Given the description of an element on the screen output the (x, y) to click on. 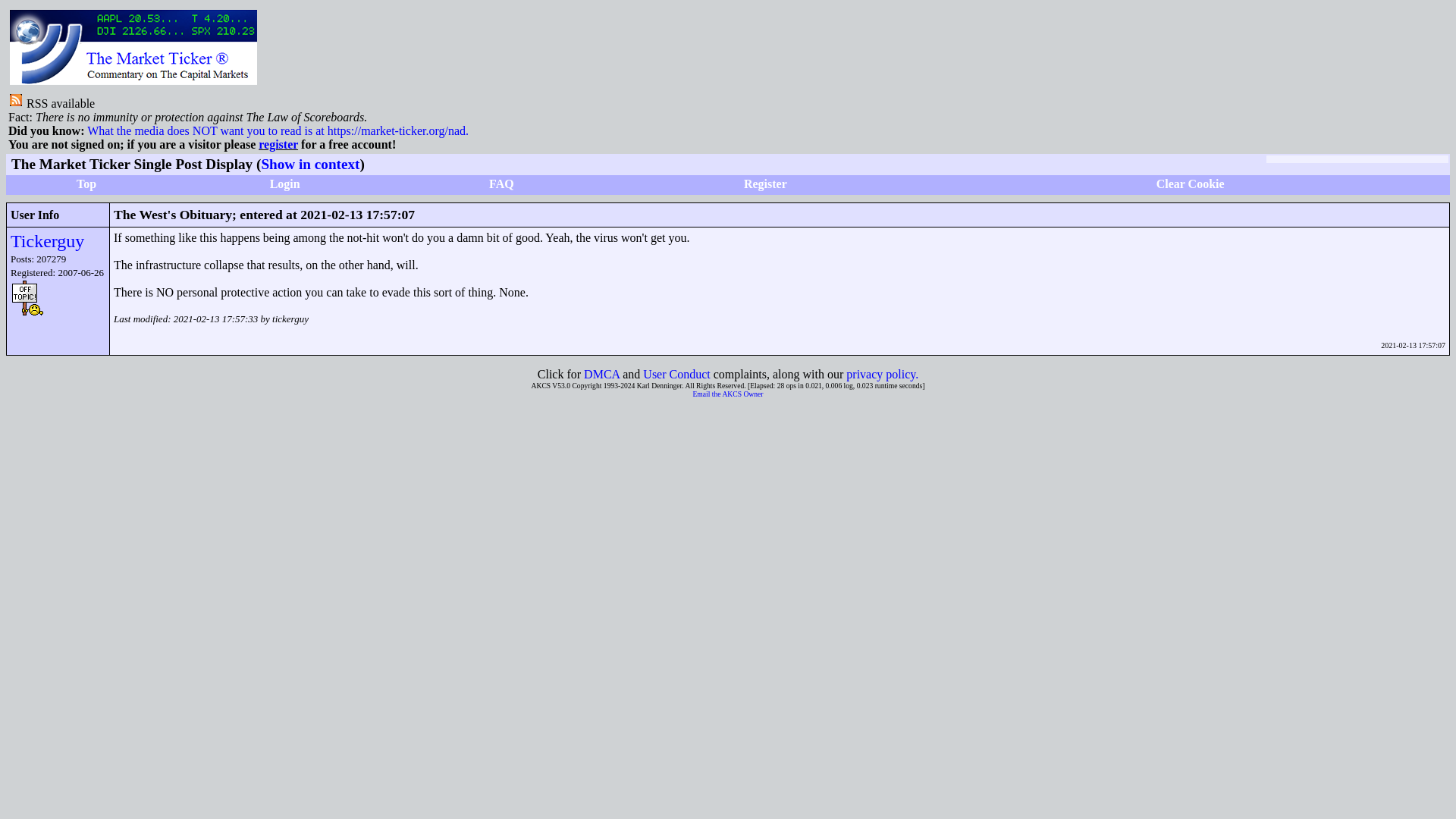
Show in context (309, 163)
DMCA (601, 373)
privacy policy. (881, 373)
register (278, 144)
Clear Cookie (1190, 183)
Register (765, 183)
Top (86, 183)
FAQ (501, 183)
Login (284, 183)
User Conduct (676, 373)
